Given the description of an element on the screen output the (x, y) to click on. 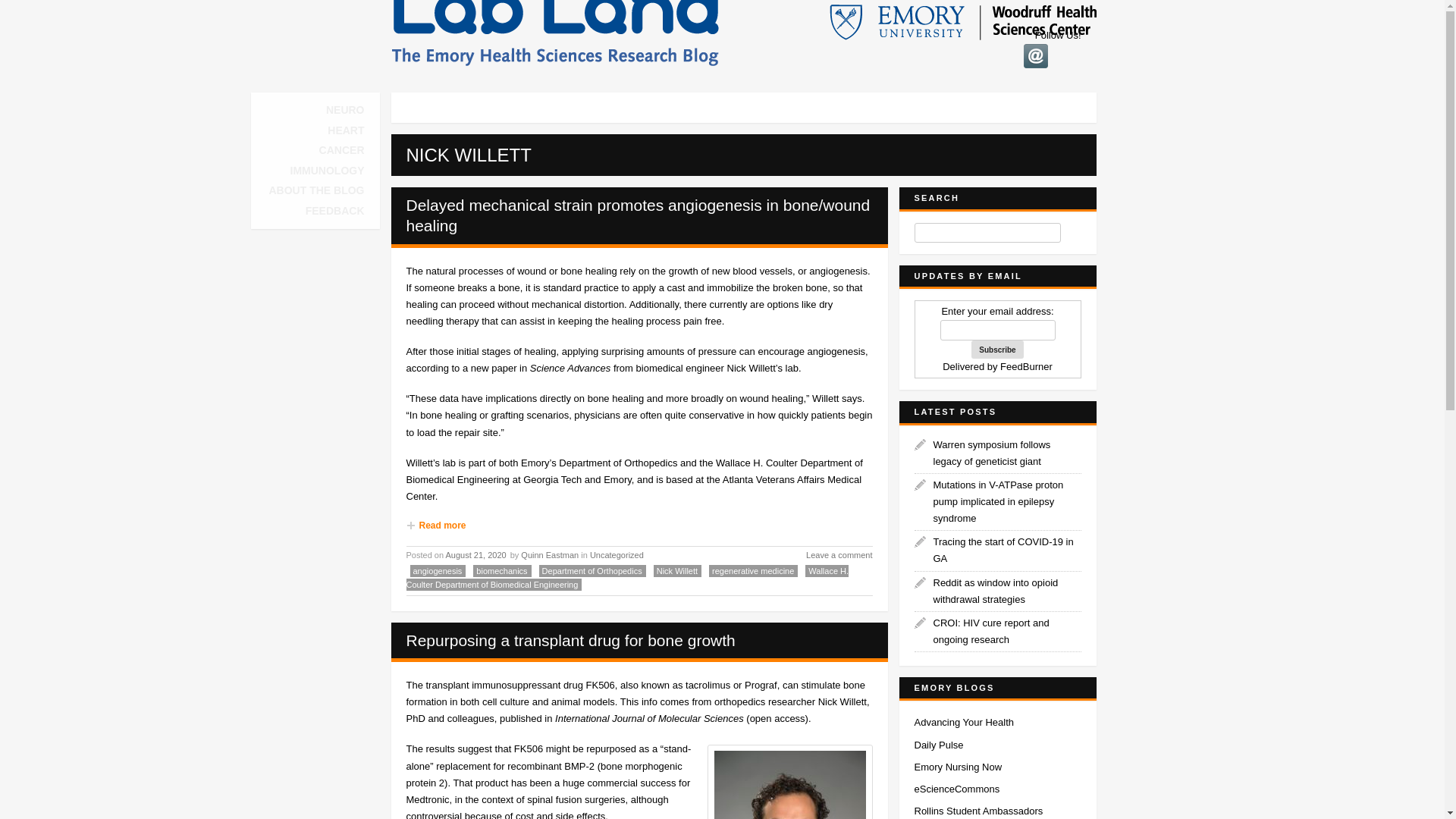
CANCER (342, 150)
IMMUNOLOGY (326, 170)
August 21, 2020 (476, 554)
Follow Us on E-mail (1035, 55)
Nick Willett (677, 571)
Posts by Emory School of Nursing Students (958, 767)
Repurposing a transplant drug for bone growth (570, 640)
Read more (639, 525)
NEURO (345, 110)
controversial (434, 814)
